Given the description of an element on the screen output the (x, y) to click on. 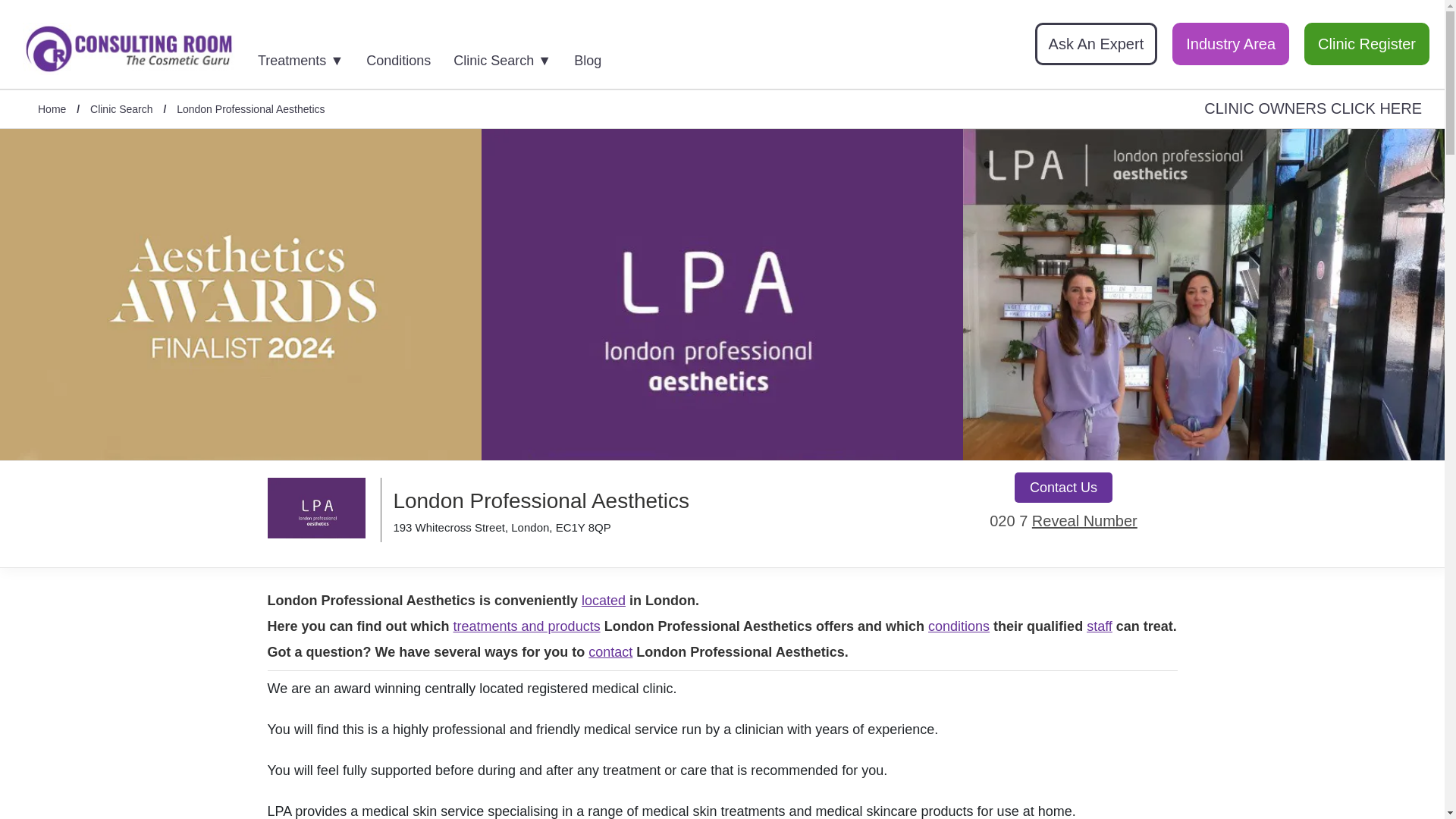
conditions (959, 627)
Consulting Room Home (128, 50)
located (603, 600)
London Professional Aesthetics (250, 110)
Contact Us (1063, 487)
Conditions (407, 56)
Ask An Expert (1096, 43)
contact (609, 652)
Clinic Search (121, 110)
Home (51, 110)
